Given the description of an element on the screen output the (x, y) to click on. 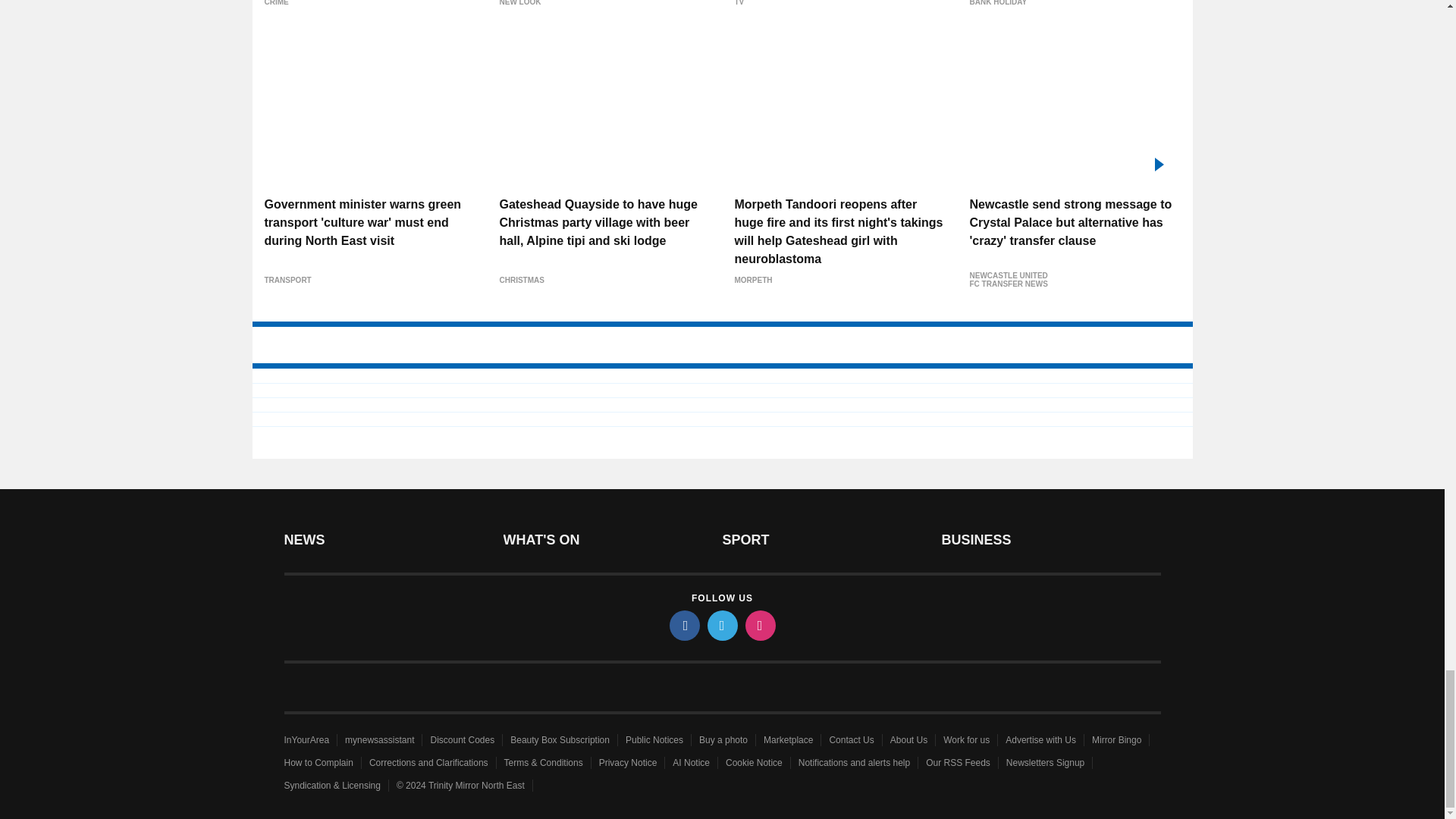
facebook (683, 625)
instagram (759, 625)
twitter (721, 625)
